Given the description of an element on the screen output the (x, y) to click on. 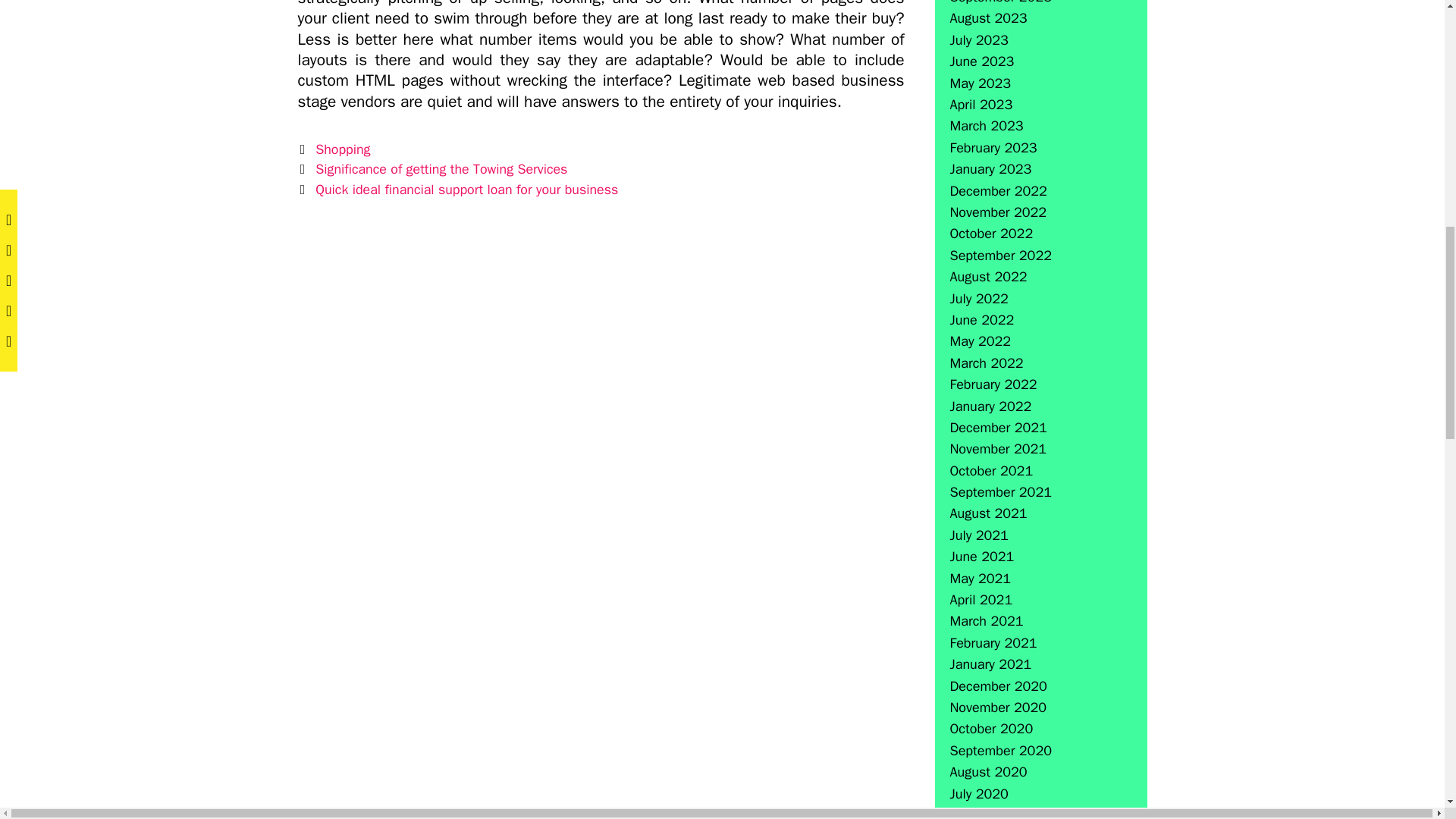
Previous (432, 168)
Next (457, 189)
September 2023 (1000, 2)
Quick ideal financial support loan for your business (466, 189)
Significance of getting the Towing Services (441, 168)
April 2023 (980, 104)
August 2023 (987, 17)
July 2023 (978, 39)
May 2023 (979, 83)
Shopping (342, 149)
